Given the description of an element on the screen output the (x, y) to click on. 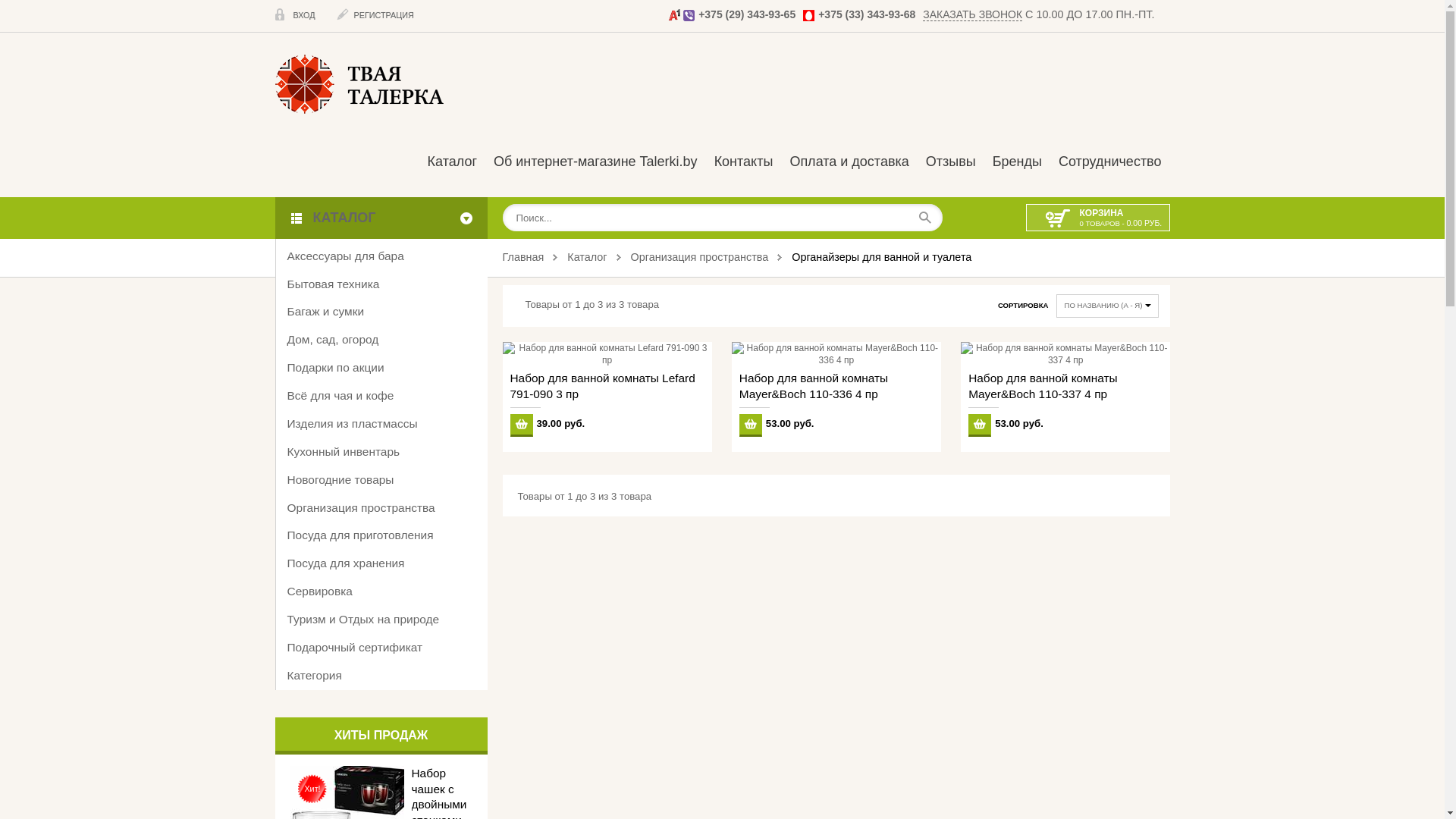
> Element type: text (474, 284)
> Element type: text (474, 563)
> Element type: text (474, 312)
> Element type: text (474, 480)
> Element type: text (474, 619)
+375 (29) 343-93-65 Element type: text (746, 14)
+375 (33) 343-93-68 Element type: text (866, 14)
> Element type: text (474, 508)
> Element type: text (474, 424)
> Element type: text (474, 591)
> Element type: text (474, 396)
> Element type: text (474, 452)
> Element type: text (474, 340)
> Element type: text (474, 535)
